Given the description of an element on the screen output the (x, y) to click on. 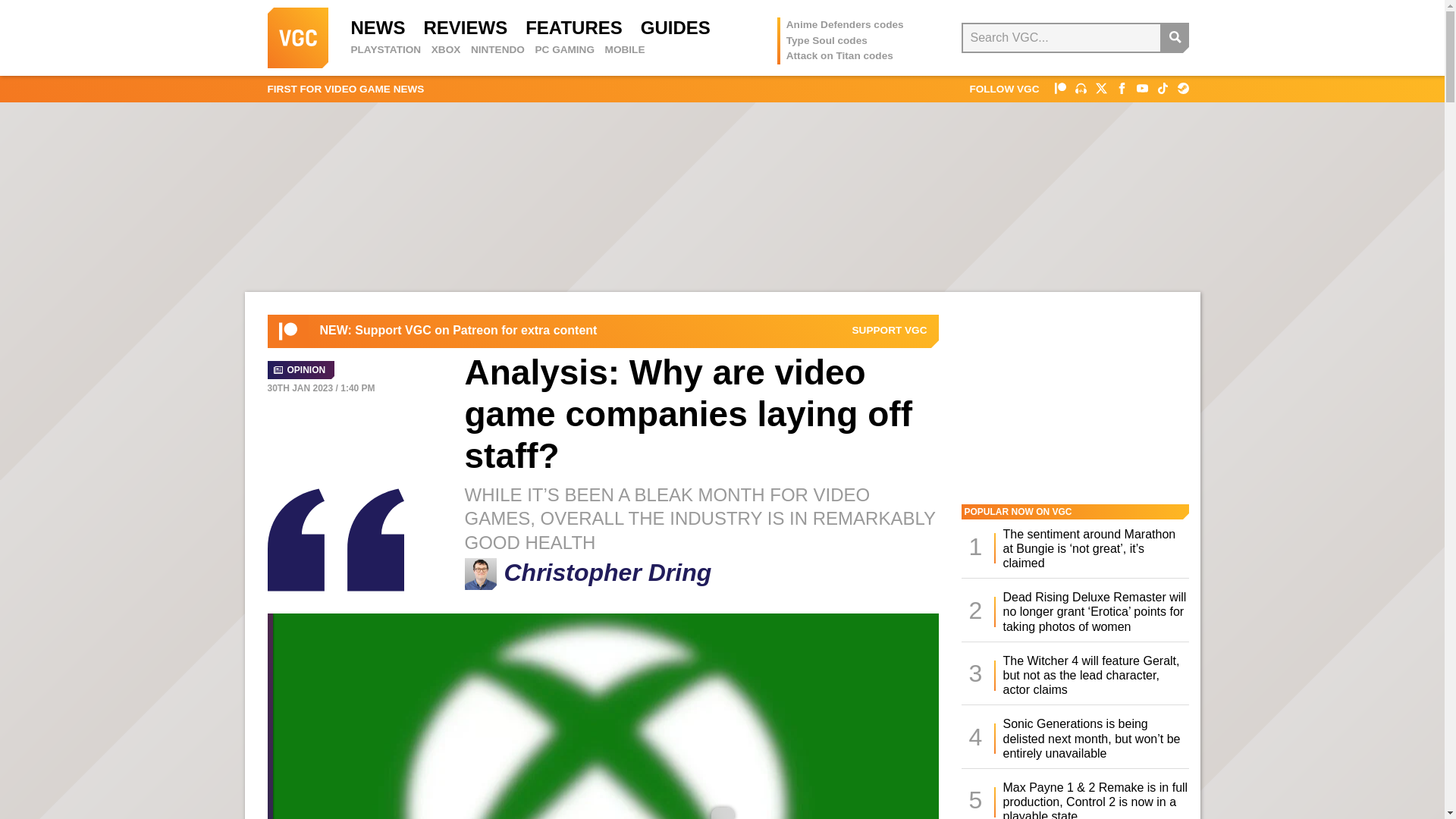
NEWS (377, 27)
SUPPORT VGC (889, 330)
PC GAMING (564, 49)
VGC on Patreon (889, 330)
NEW: Support VGC on Patreon for extra content (457, 330)
REVIEWS (464, 27)
FEATURES (574, 27)
Attack on Titan codes (839, 55)
Type Soul codes (826, 40)
VGC on Patreon (288, 331)
